Given the description of an element on the screen output the (x, y) to click on. 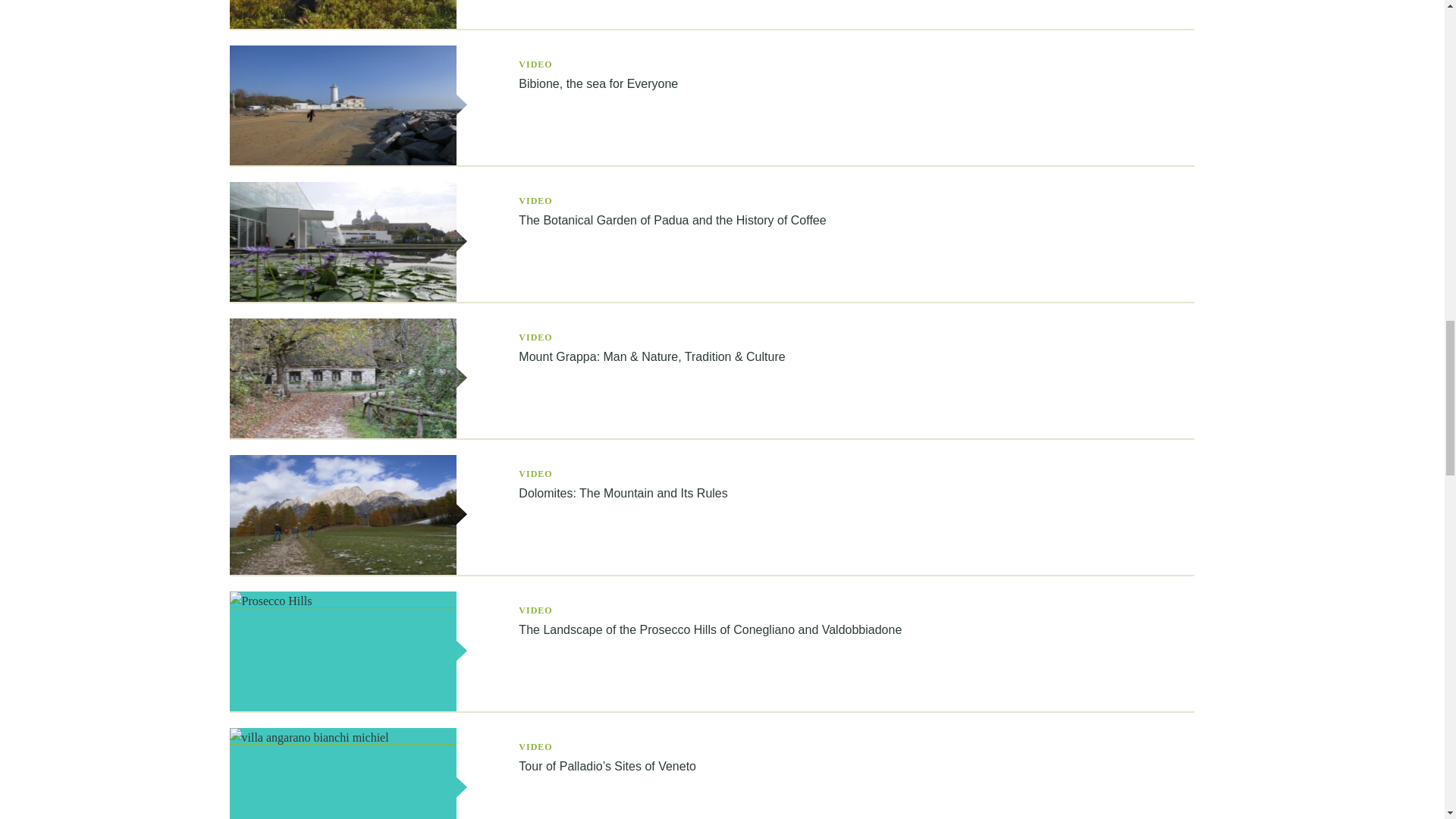
Permalink to Bibione, the sea for Everyone (598, 83)
Permalink to Bibione, the sea for Everyone (349, 161)
Permalink to Dolomites: The Mountain and Its Rules (349, 571)
Permalink to Dolomites: The Mountain and Its Rules (622, 492)
